Given the description of an element on the screen output the (x, y) to click on. 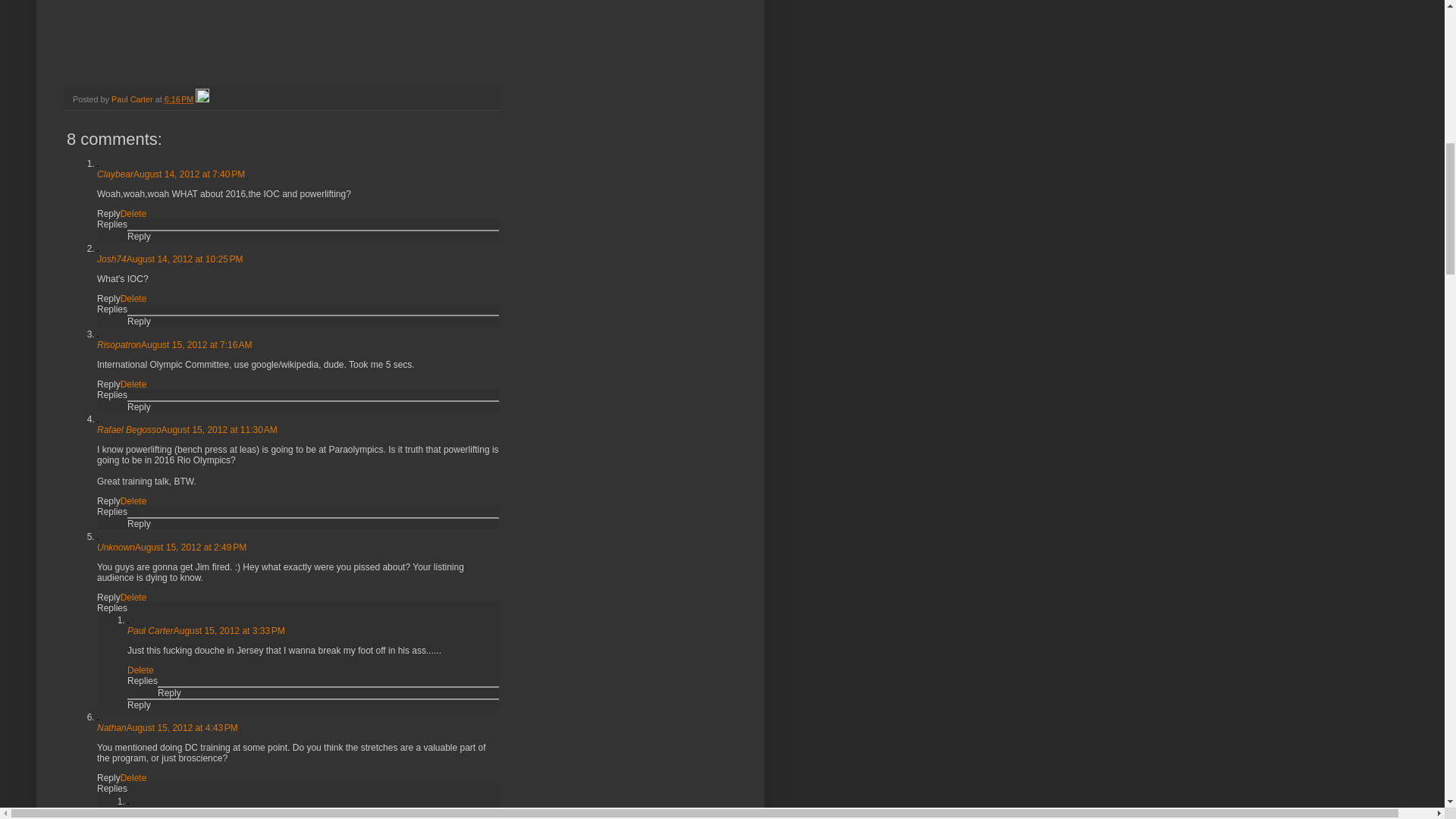
Delete (133, 213)
Rafael Begosso (129, 429)
Delete (133, 384)
Reply (139, 523)
Reply (139, 235)
Reply (108, 384)
permanent link (178, 99)
Risopatron (119, 344)
Delete (133, 501)
Replies (112, 224)
Edit Post (202, 99)
Josh74 (111, 258)
